Given the description of an element on the screen output the (x, y) to click on. 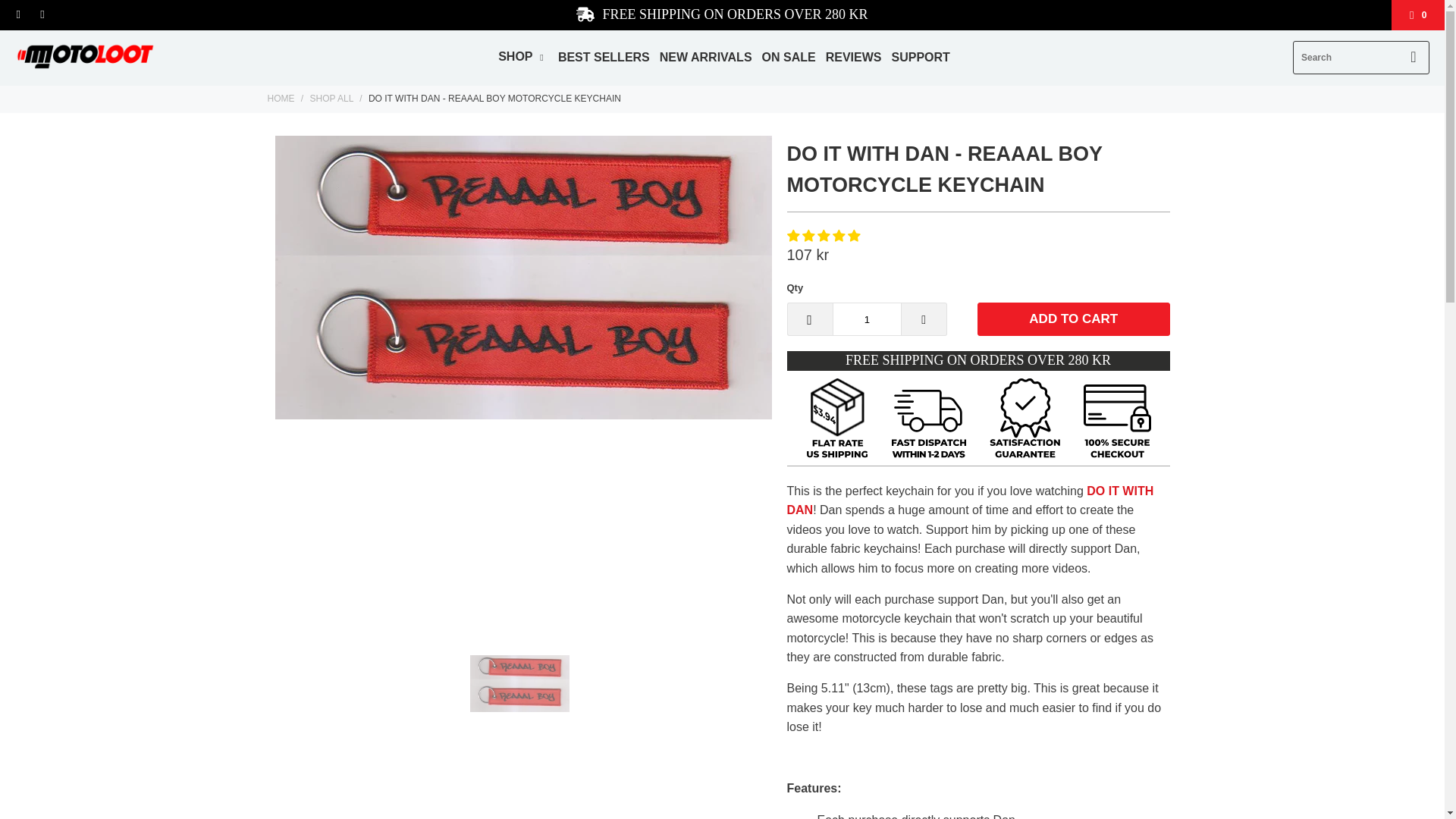
Moto Loot on Instagram (41, 14)
Moto Loot on Facebook (17, 14)
Moto Loot (280, 98)
DO IT WITH DAN's Channel (970, 500)
Moto Loot (84, 57)
1 (866, 318)
Shop All (331, 98)
